Given the description of an element on the screen output the (x, y) to click on. 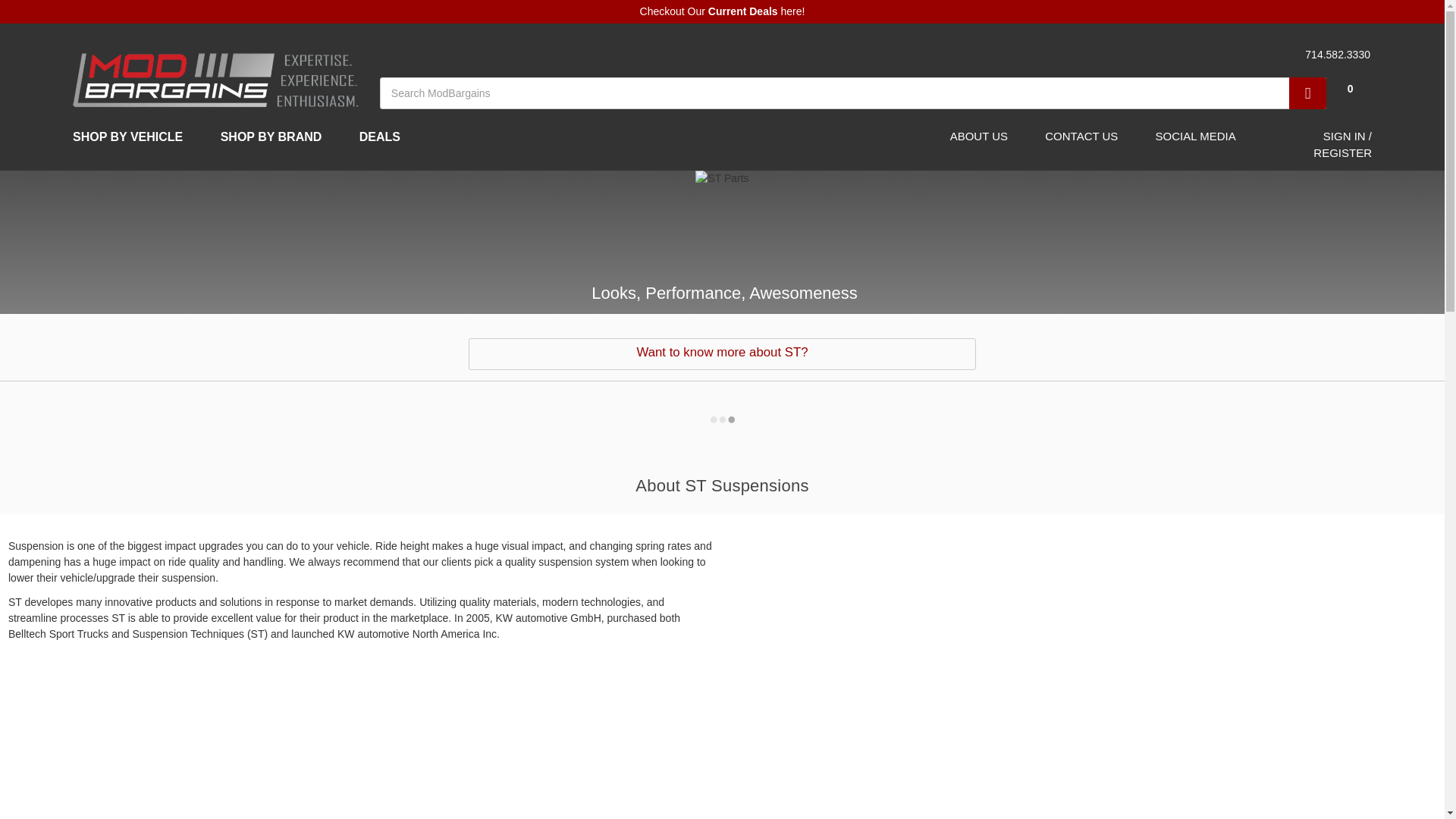
714.582.3330 (1335, 54)
0 (1348, 34)
ModBargains (215, 78)
SHOP BY VEHICLE (134, 136)
